Given the description of an element on the screen output the (x, y) to click on. 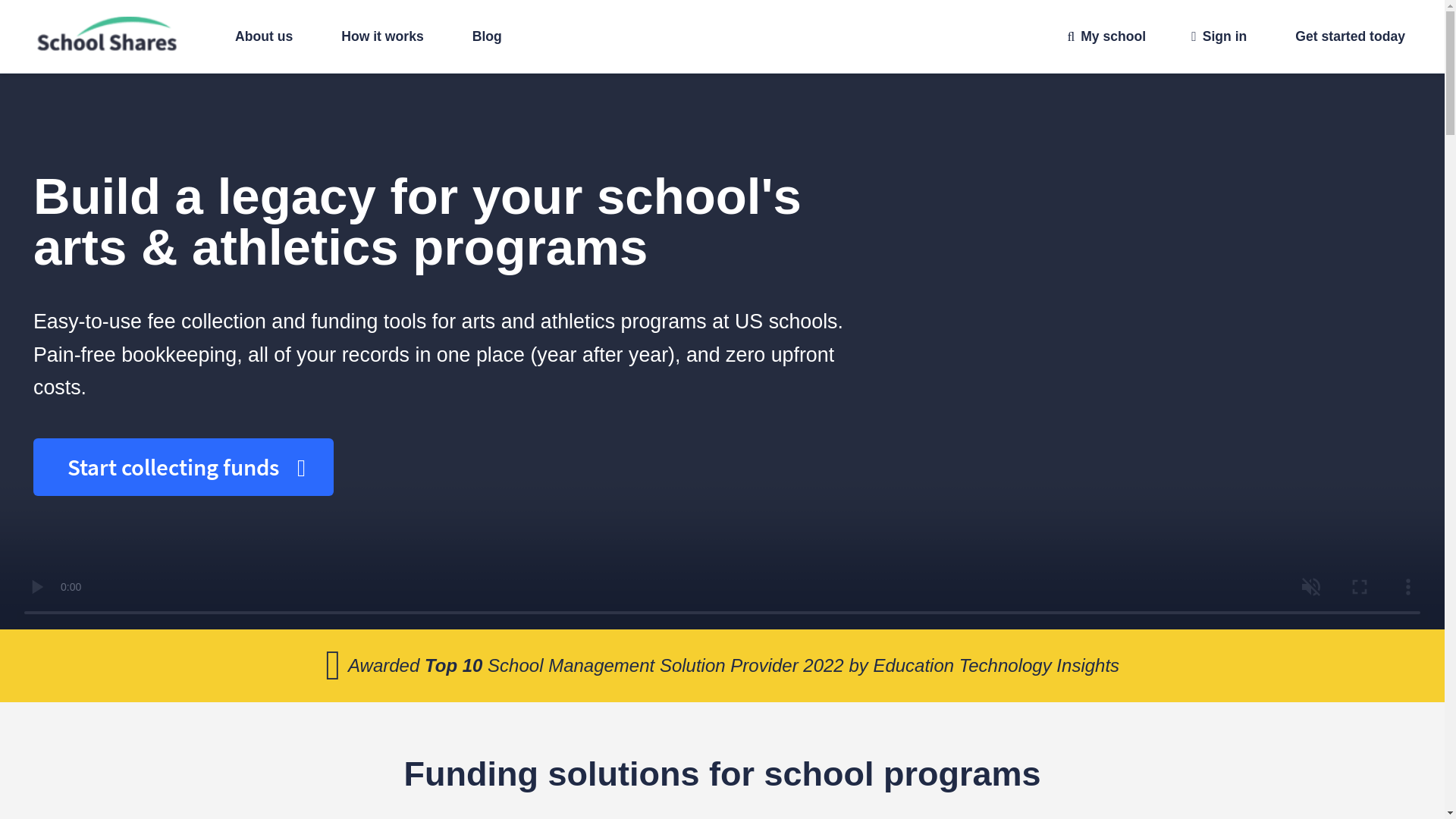
Start collecting funds (183, 467)
Get started today (1349, 36)
Sign in (1218, 36)
About us (263, 36)
Blog (486, 36)
How it works (381, 36)
My school (1106, 36)
